Given the description of an element on the screen output the (x, y) to click on. 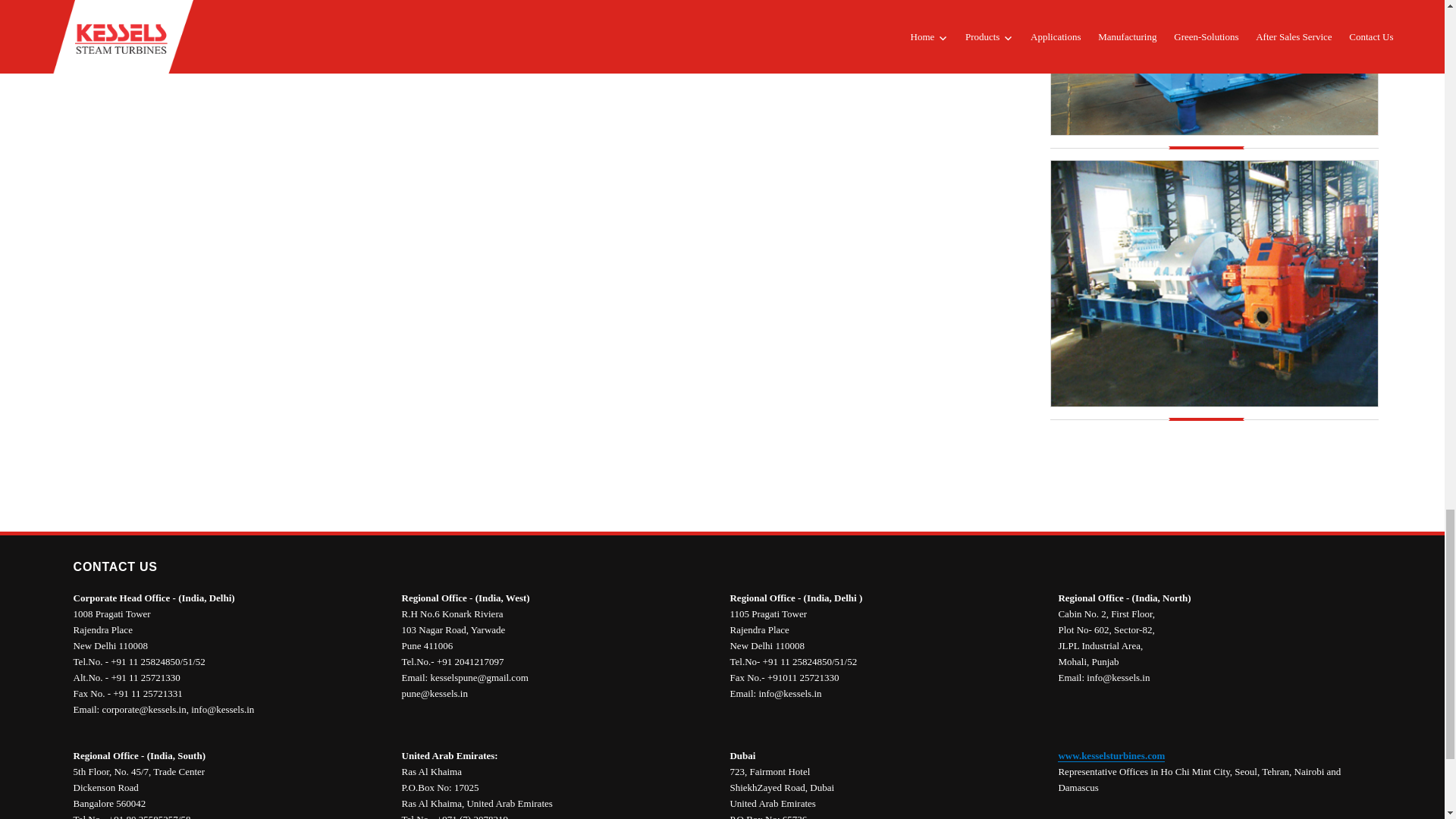
www.kesselsturbines.com (1111, 755)
